Given the description of an element on the screen output the (x, y) to click on. 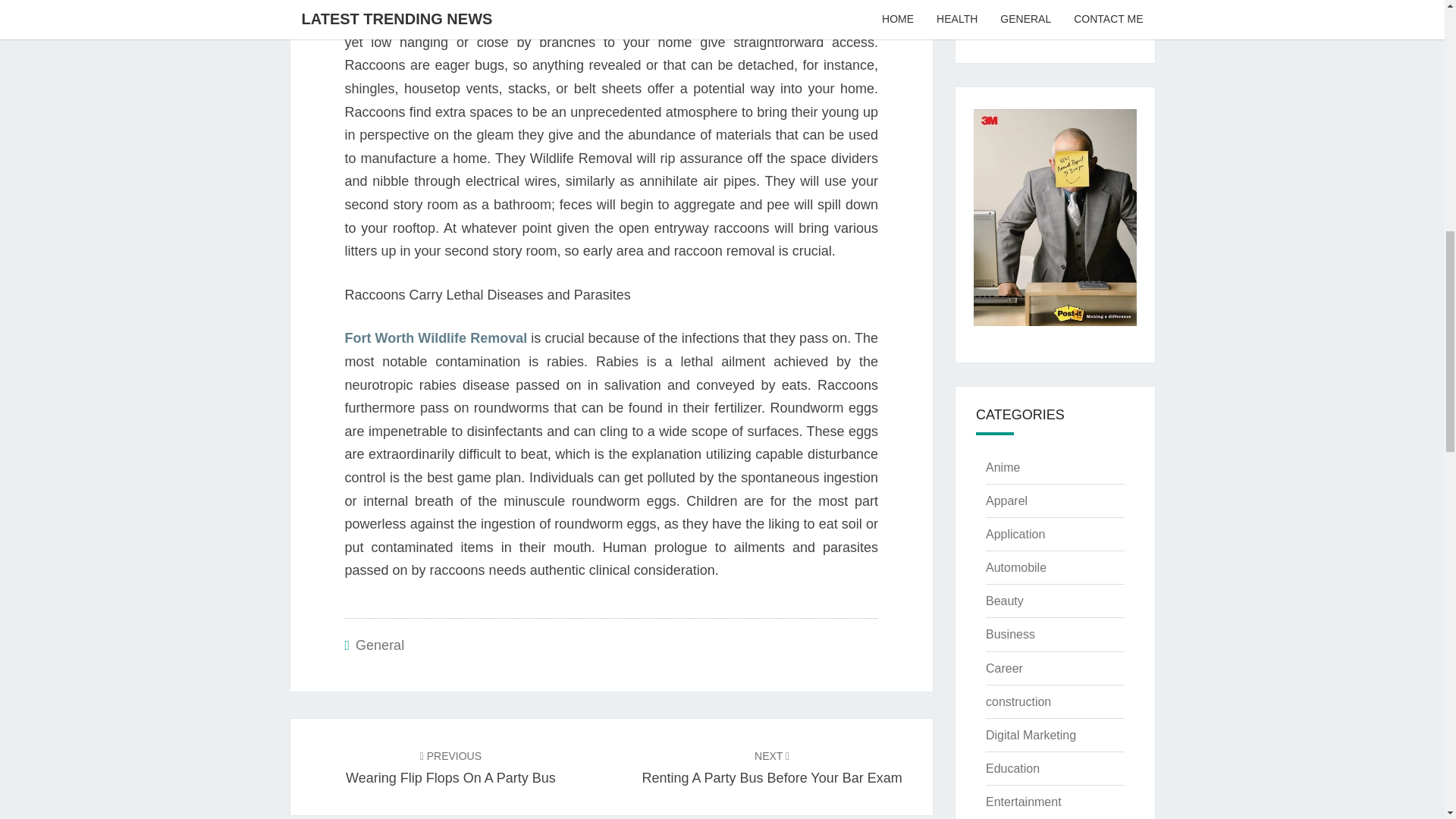
Career (1004, 667)
Fort Worth Wildlife Removal (435, 337)
Entertainment (1023, 801)
Automobile (1015, 567)
Apparel (1006, 500)
Business (1010, 634)
General (379, 645)
Anime (451, 766)
Application (1002, 467)
Education (1015, 533)
Digital Marketing (1012, 768)
construction (1030, 735)
Beauty (1018, 701)
